Given the description of an element on the screen output the (x, y) to click on. 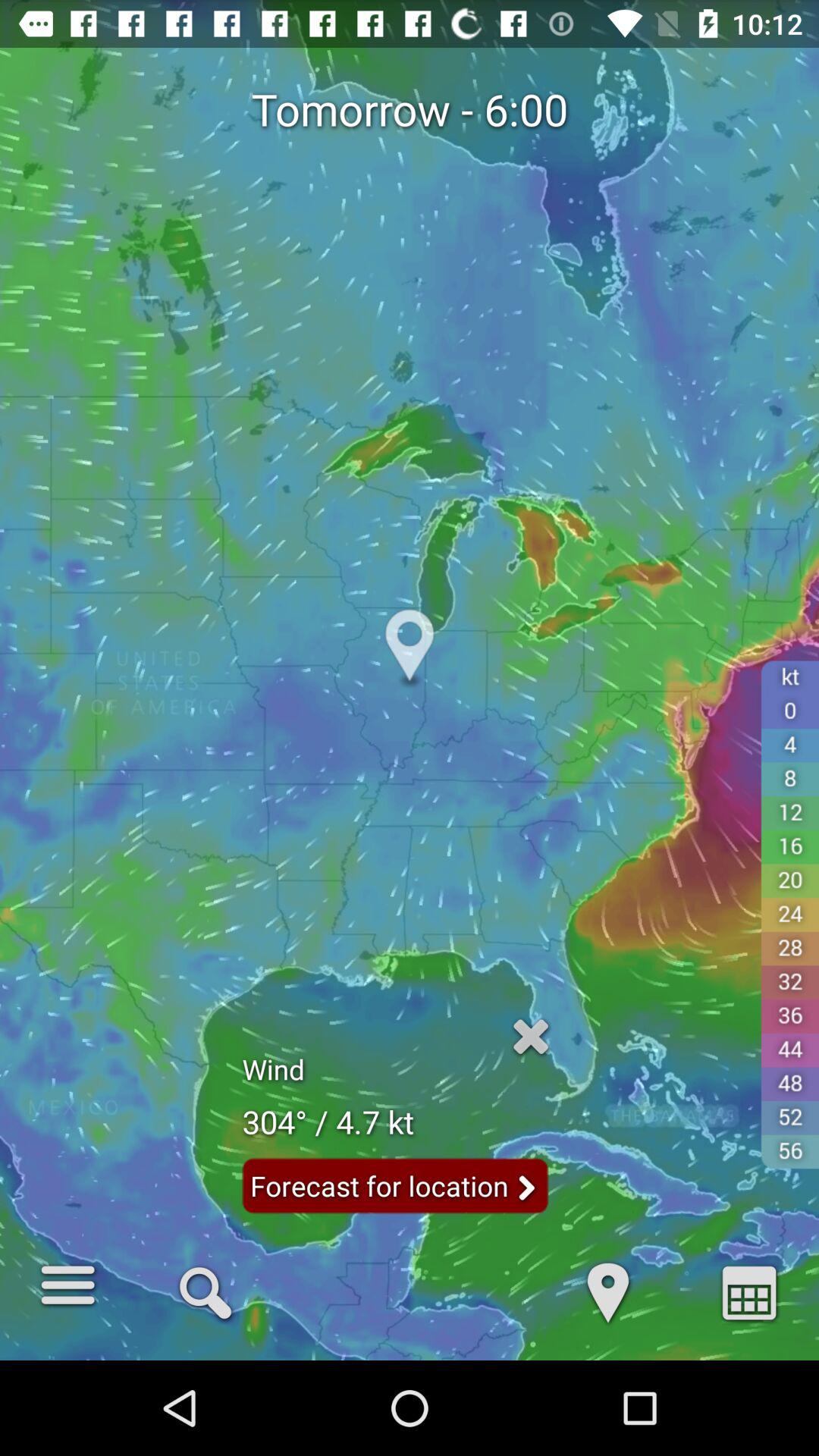
turn on the icon below tomorrow - 6:00 item (205, 1291)
